Given the description of an element on the screen output the (x, y) to click on. 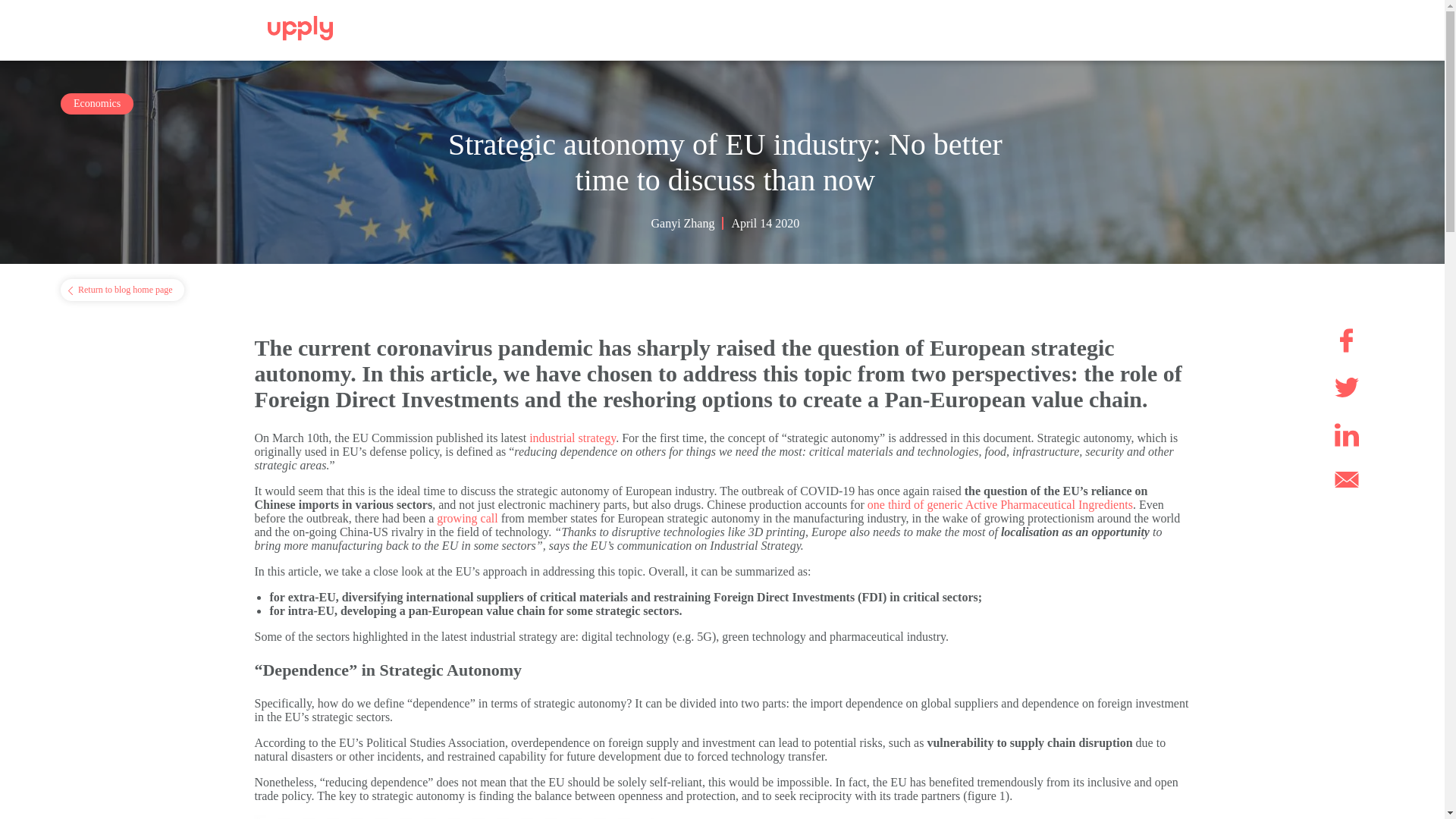
one third of generic Active Pharmaceutical Ingredients (999, 504)
Ganyi Zhang (686, 223)
Economics (97, 103)
Return to blog home page (122, 290)
growing call (466, 517)
industrial strategy (572, 437)
